Given the description of an element on the screen output the (x, y) to click on. 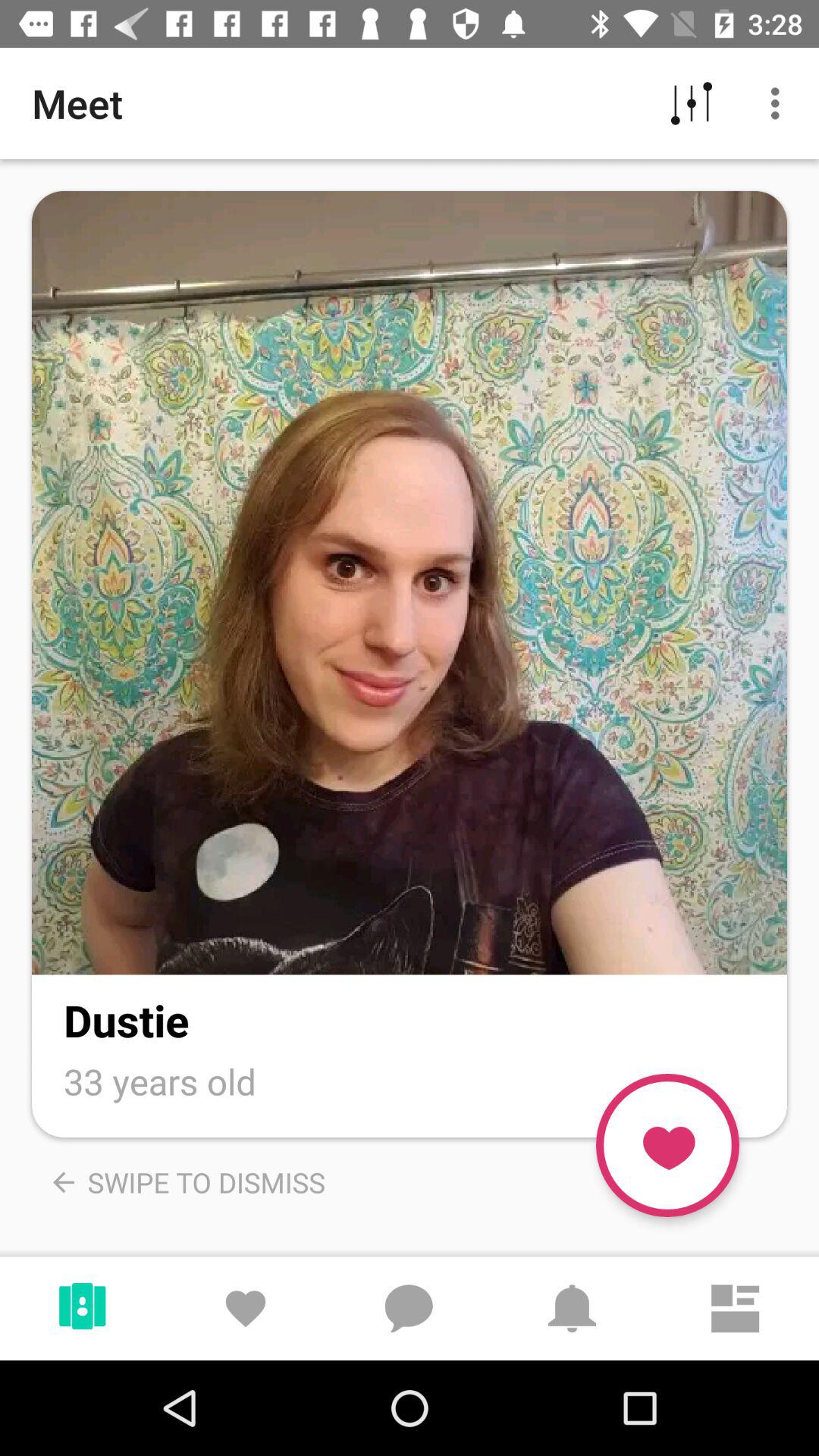
launch icon at the center (409, 582)
